Given the description of an element on the screen output the (x, y) to click on. 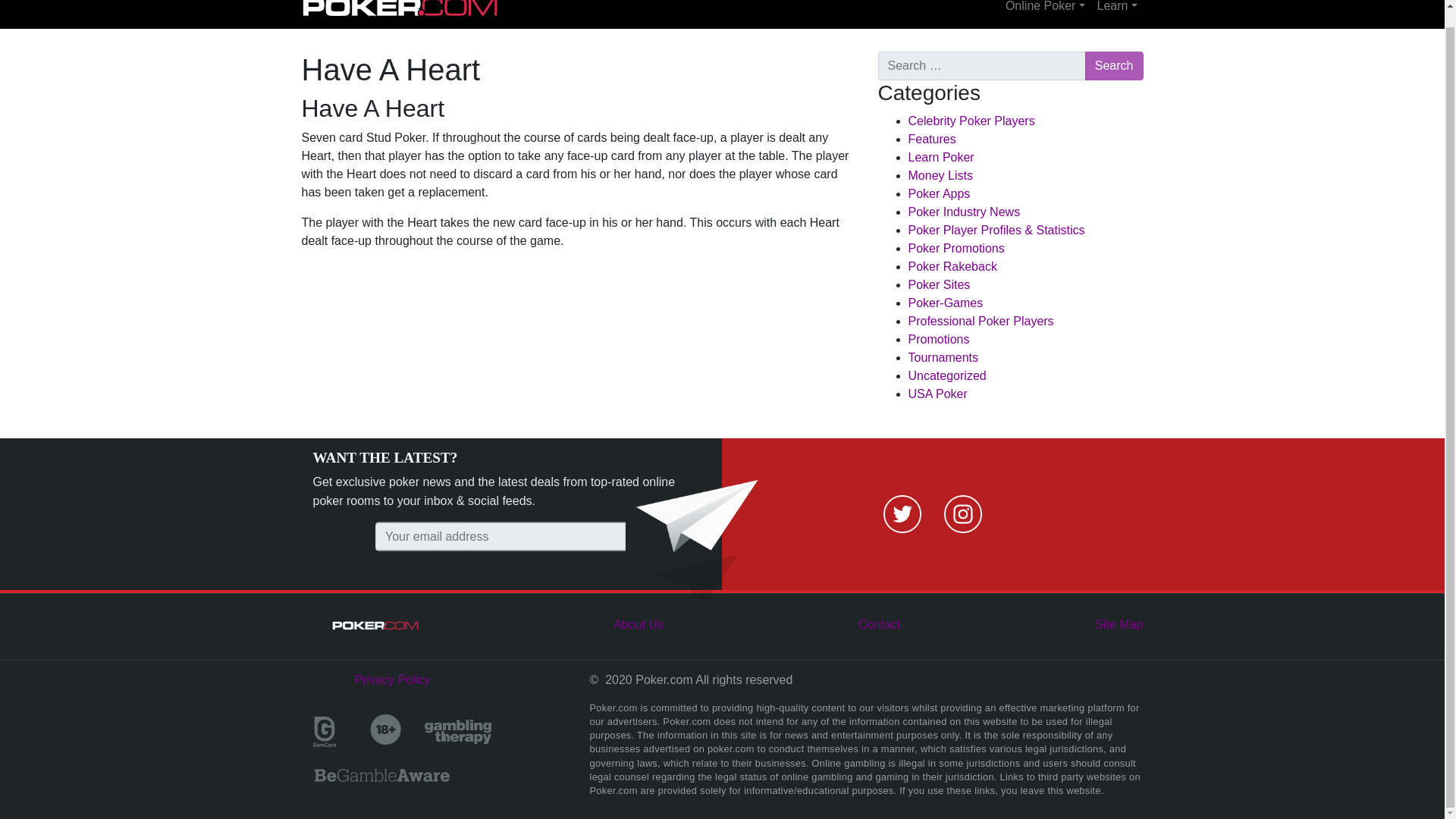
Search (1113, 65)
Learn Poker (941, 156)
Professional Poker Players (981, 320)
Learn (1116, 10)
Celebrity Poker Players (971, 120)
Uncategorized (947, 375)
Poker-Games (946, 302)
Poker Promotions (956, 247)
Money Lists (940, 174)
Poker (400, 11)
Online Poker (1044, 10)
Global and international live poker winnings money-lists. (940, 174)
Tournaments (943, 357)
Poker Industry News (964, 211)
